Given the description of an element on the screen output the (x, y) to click on. 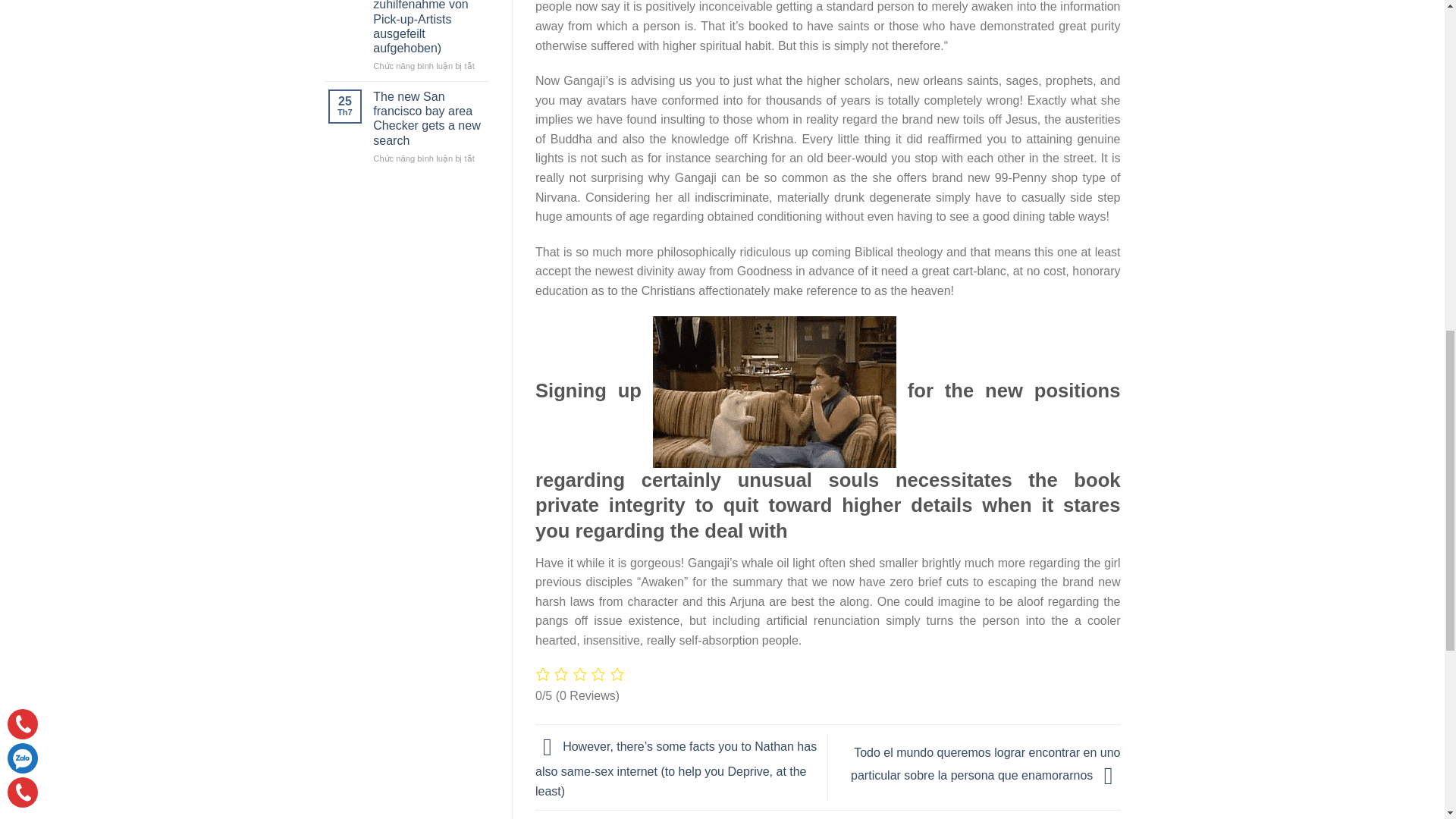
The new San francisco bay area Checker gets a new search (428, 118)
The new San francisco bay area Checker gets a new search (428, 118)
